Given the description of an element on the screen output the (x, y) to click on. 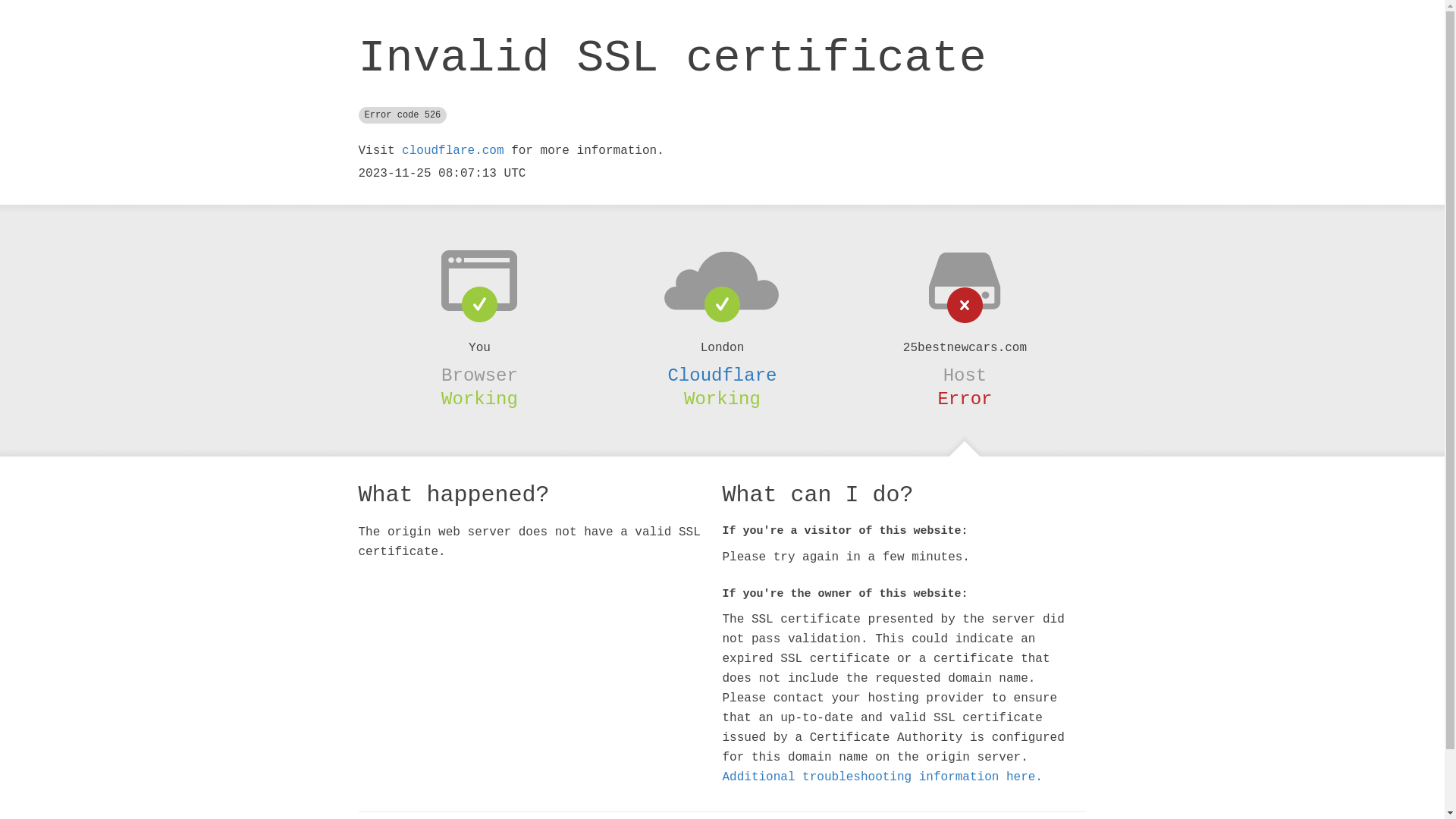
Additional troubleshooting information here. Element type: text (881, 777)
Cloudflare Element type: text (721, 375)
cloudflare.com Element type: text (452, 150)
